Given the description of an element on the screen output the (x, y) to click on. 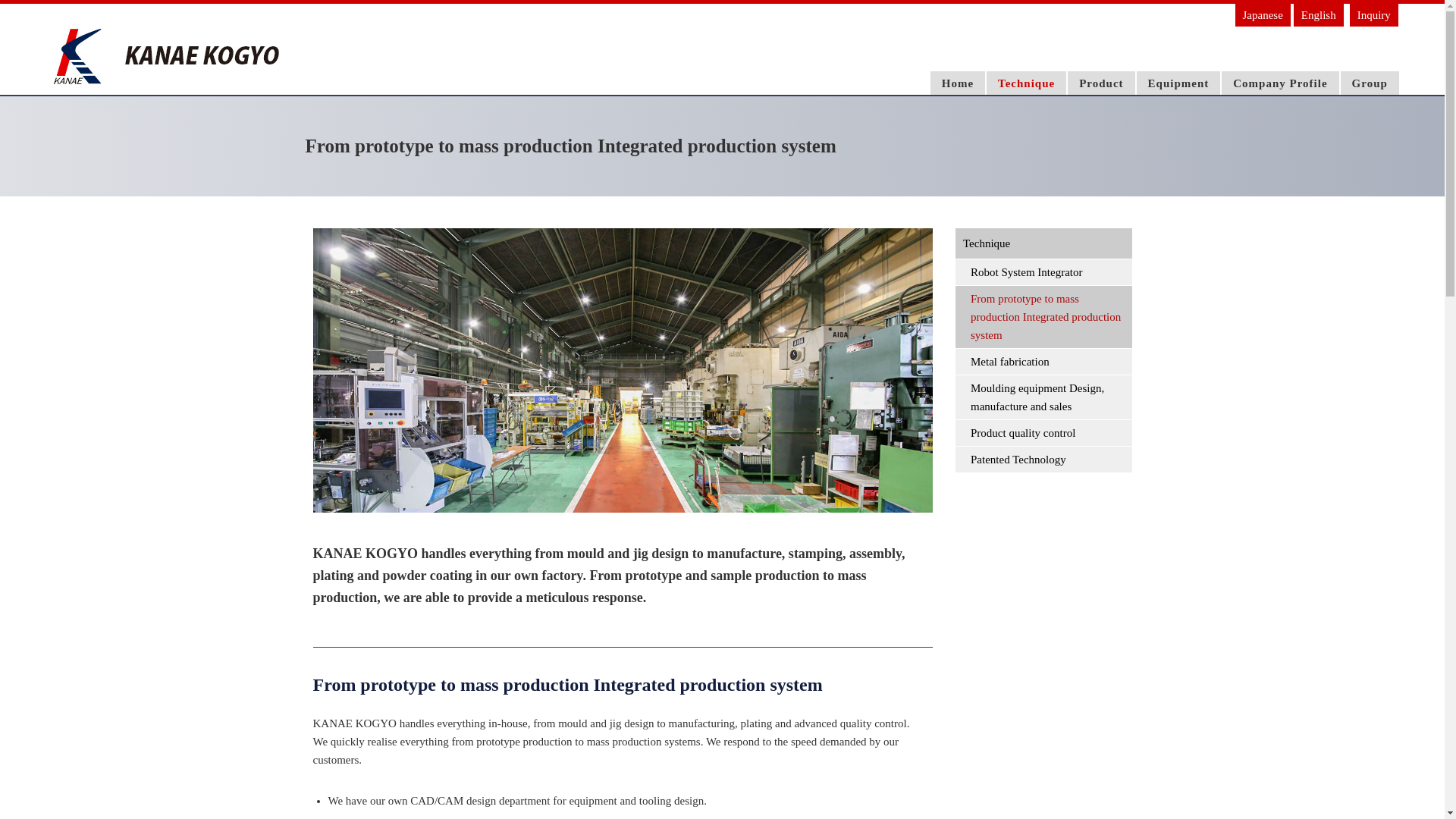
Home (958, 83)
Inquiry (1373, 15)
Technique (1025, 83)
Product (1100, 83)
Japanese (1262, 15)
Group (1369, 83)
Japanese (1262, 15)
Company Profile (1279, 83)
Robot System Integrator (1043, 272)
